Given the description of an element on the screen output the (x, y) to click on. 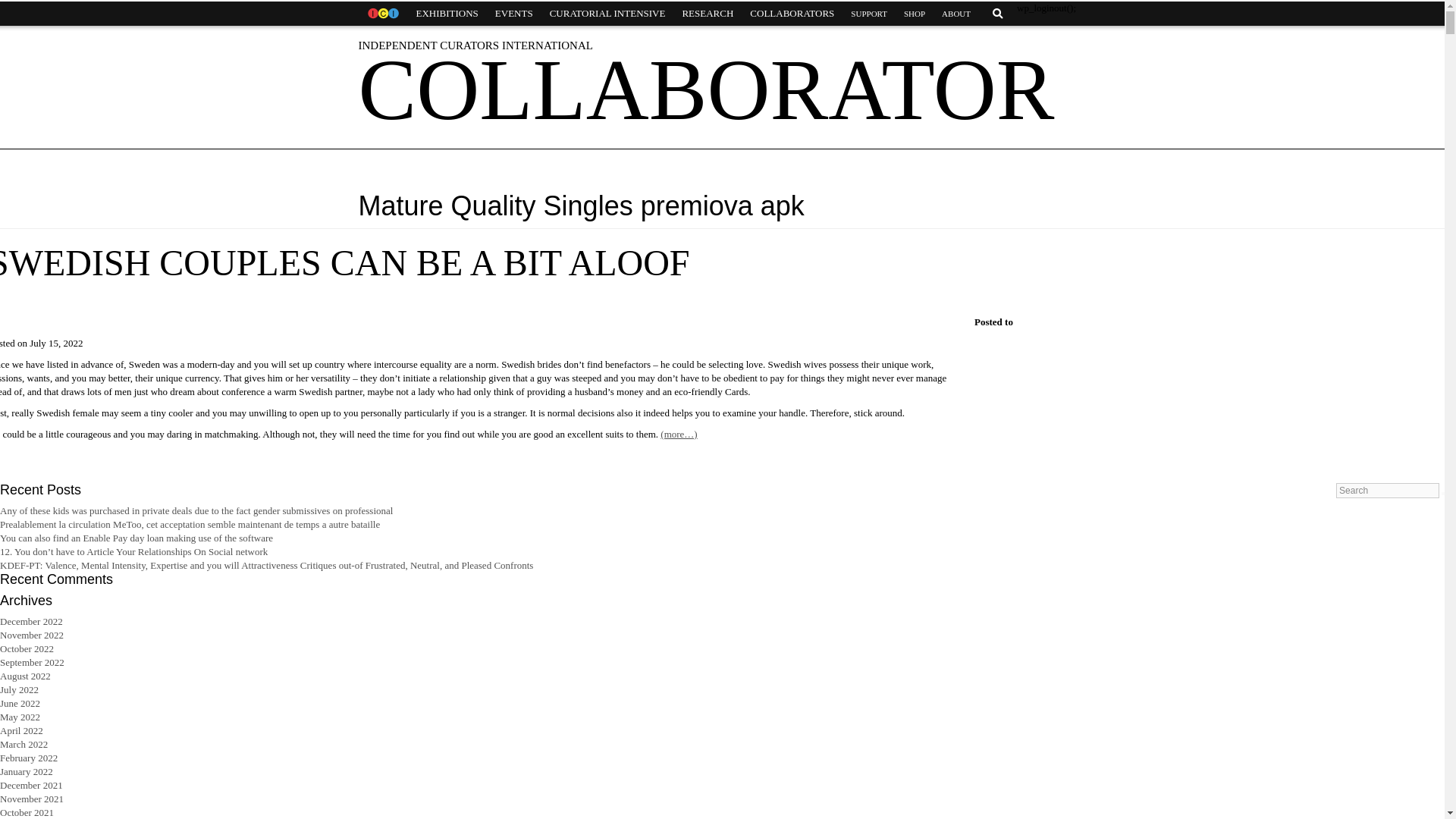
COLLABORATORS (792, 13)
EXHIBITIONS (446, 13)
HOME (382, 13)
CURATORIAL INTENSIVE (607, 13)
RESEARCH (706, 13)
EVENTS (513, 13)
